Given the description of an element on the screen output the (x, y) to click on. 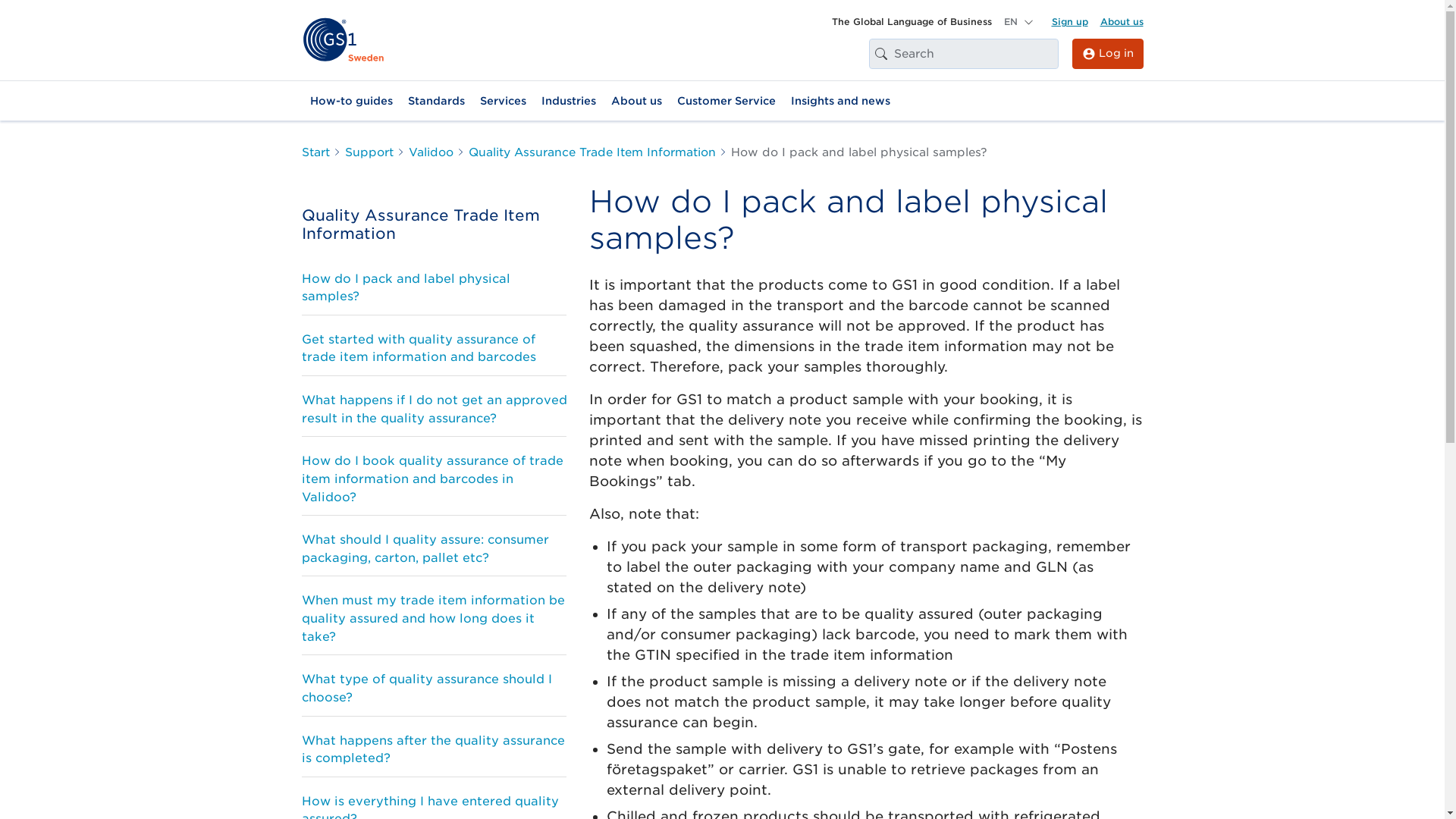
Standards (435, 100)
Customer Service (725, 100)
Industries (568, 100)
How-to guides (349, 100)
Log in (1106, 53)
About us (636, 100)
How-to guides (349, 100)
Insights and news (839, 100)
About us (1120, 21)
Sign up (1069, 21)
Standards (435, 100)
EN (1018, 21)
Services (502, 100)
